Given the description of an element on the screen output the (x, y) to click on. 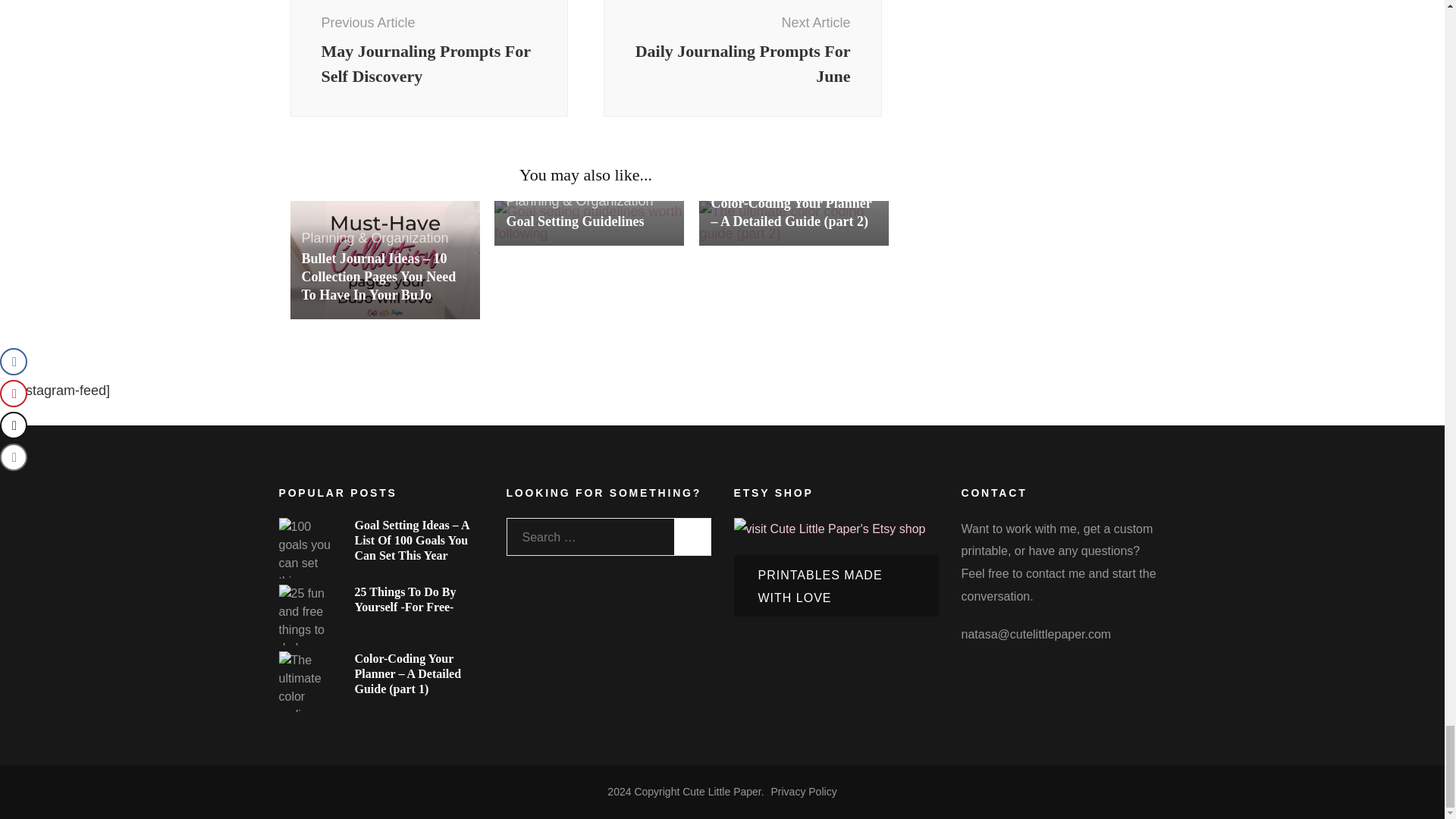
Search (691, 536)
Search (691, 536)
